Given the description of an element on the screen output the (x, y) to click on. 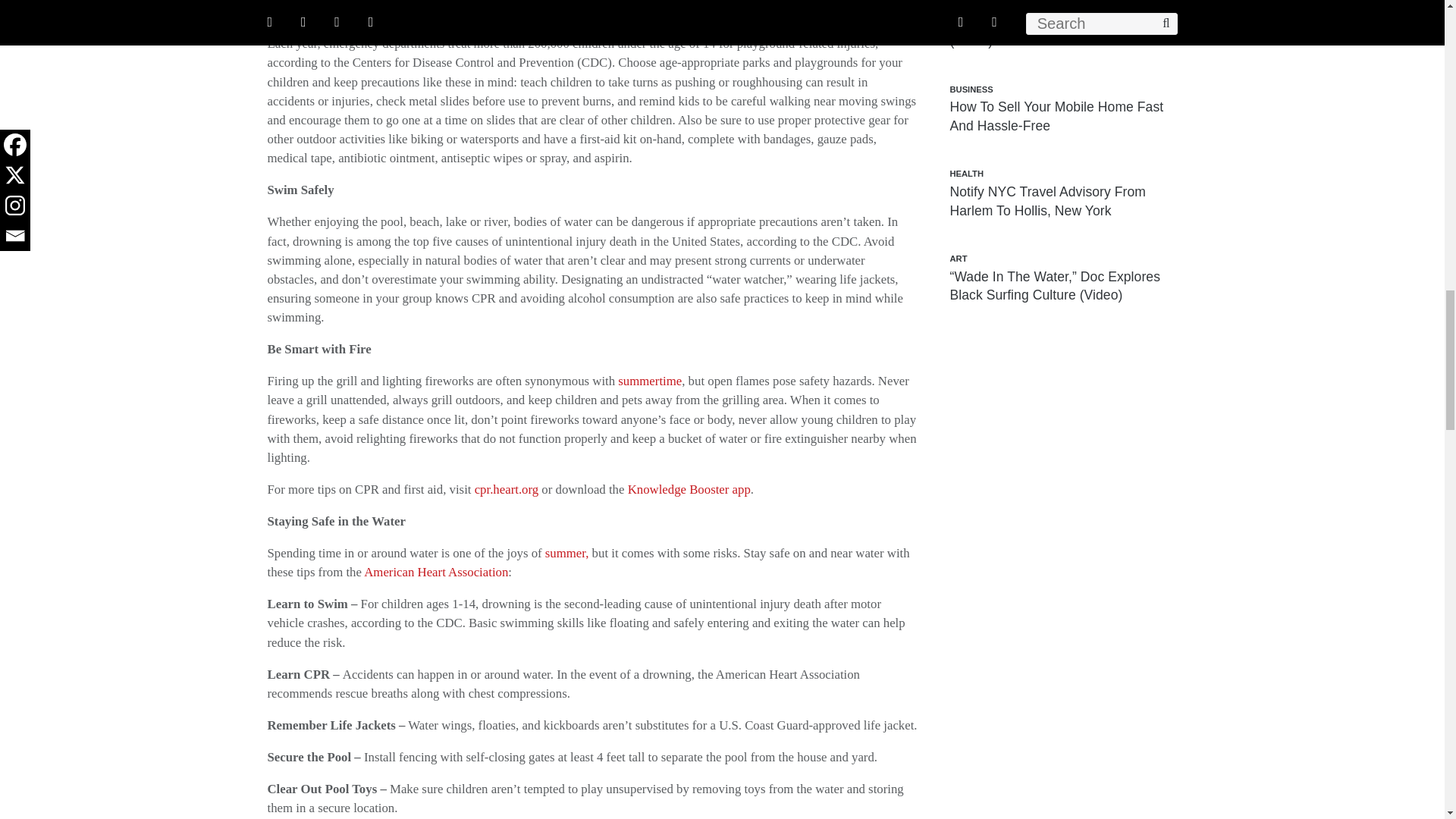
summer, (566, 553)
American Heart Association (436, 572)
summertime (649, 380)
Knowledge Booster app (689, 489)
cpr.heart.org (506, 489)
